Given the description of an element on the screen output the (x, y) to click on. 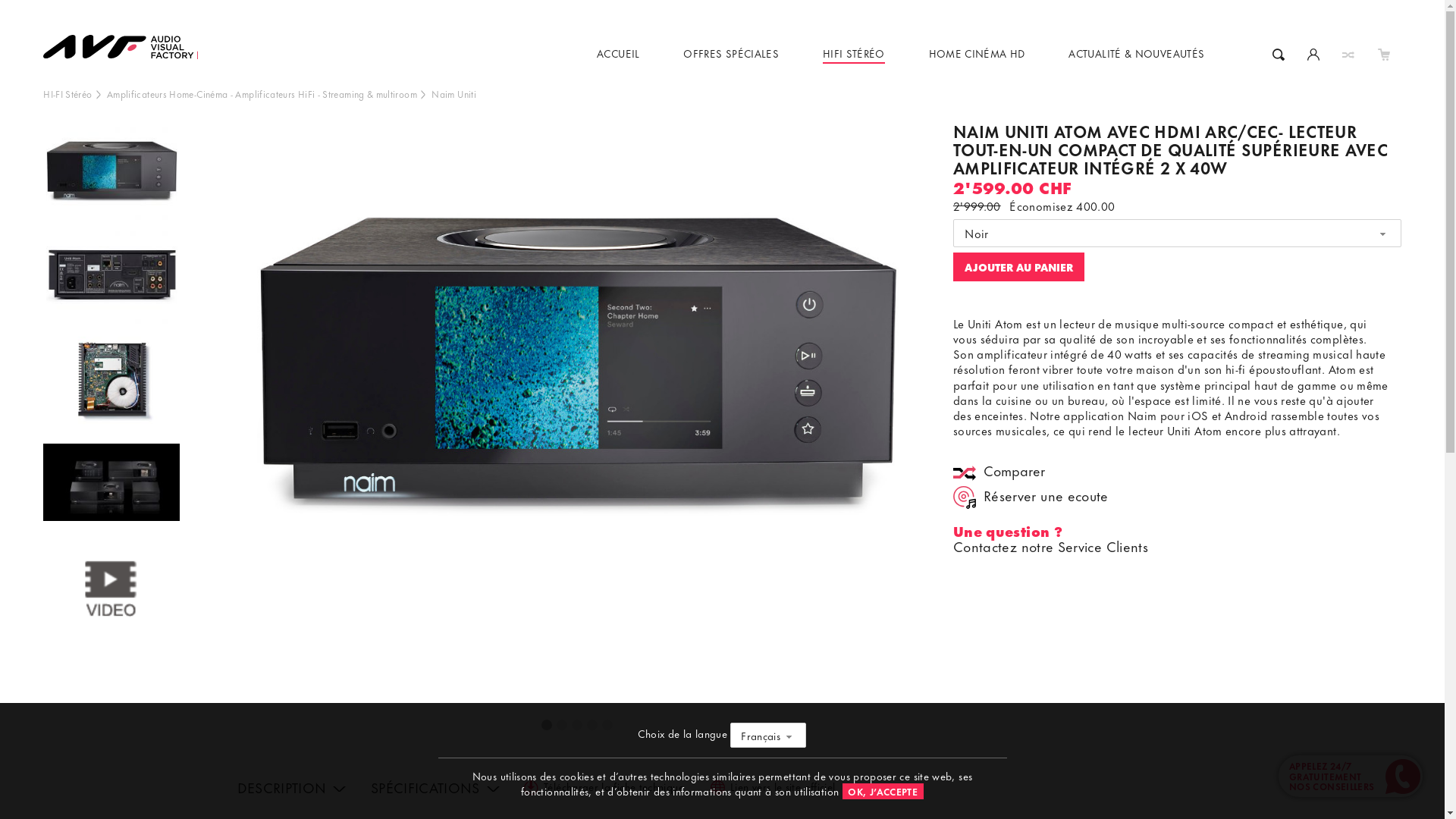
Naim Uniti Element type: text (453, 93)
Lien vers la page d'accueil Element type: hover (126, 35)
1 Element type: text (547, 725)
Une question ?
Contactez notre Service Clients Element type: text (1050, 538)
Comparer Element type: text (1005, 472)
Streaming & multiroom Element type: text (369, 93)
4 Element type: text (592, 725)
Amplificateurs HiFi Element type: text (274, 93)
ACCUEIL Element type: text (618, 52)
2 Element type: text (562, 725)
3 Element type: text (577, 725)
5 Element type: text (608, 725)
Lien vers le site officiel Element type: text (775, 788)
Login Element type: hover (1313, 52)
AJOUTER AU PANIER Element type: text (1018, 266)
